Given the description of an element on the screen output the (x, y) to click on. 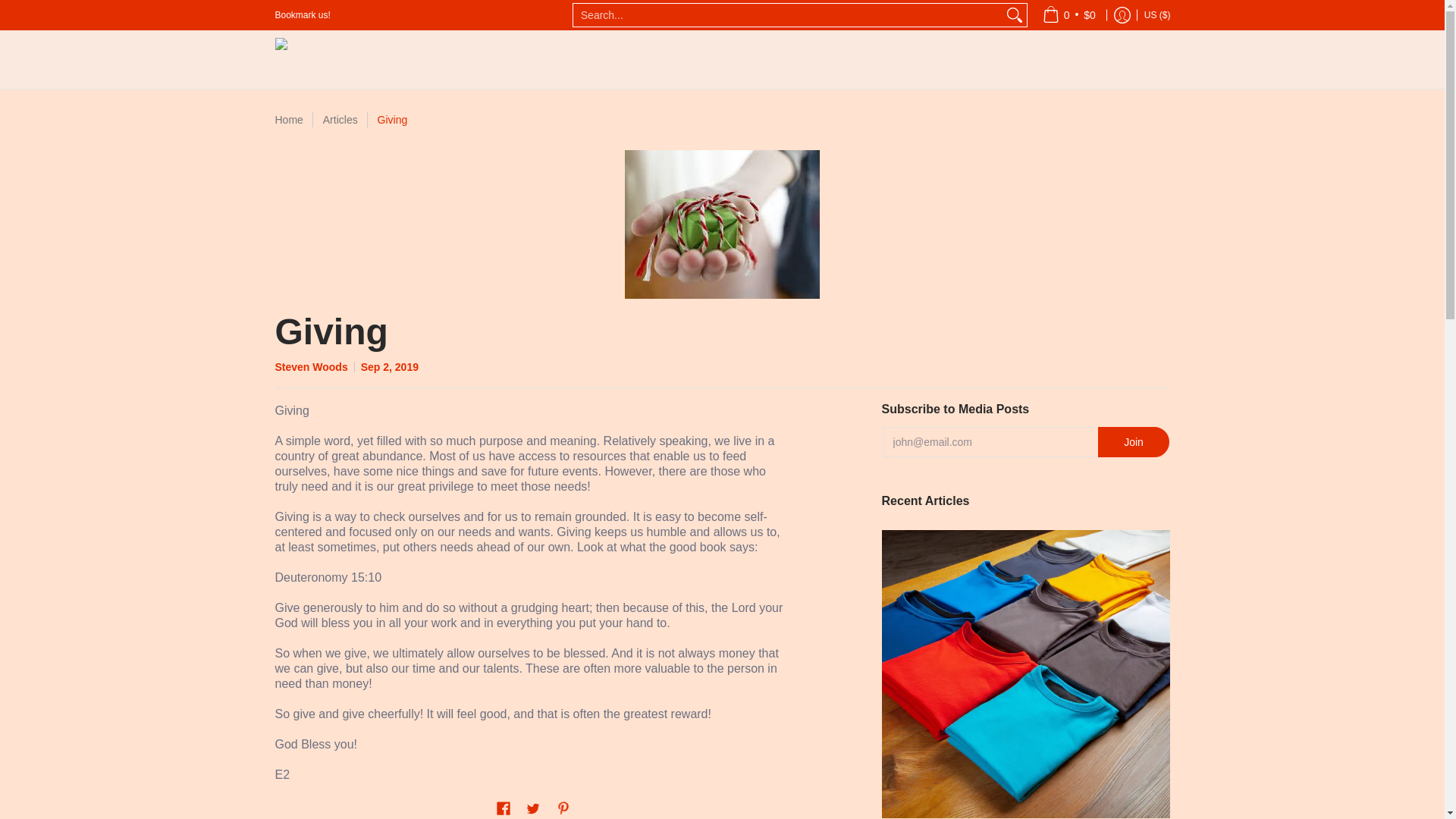
BN (975, 72)
VG (1008, 39)
IO (1028, 7)
Cart (1068, 15)
BG (984, 106)
Log in (1121, 15)
Encore2wo (369, 59)
